Given the description of an element on the screen output the (x, y) to click on. 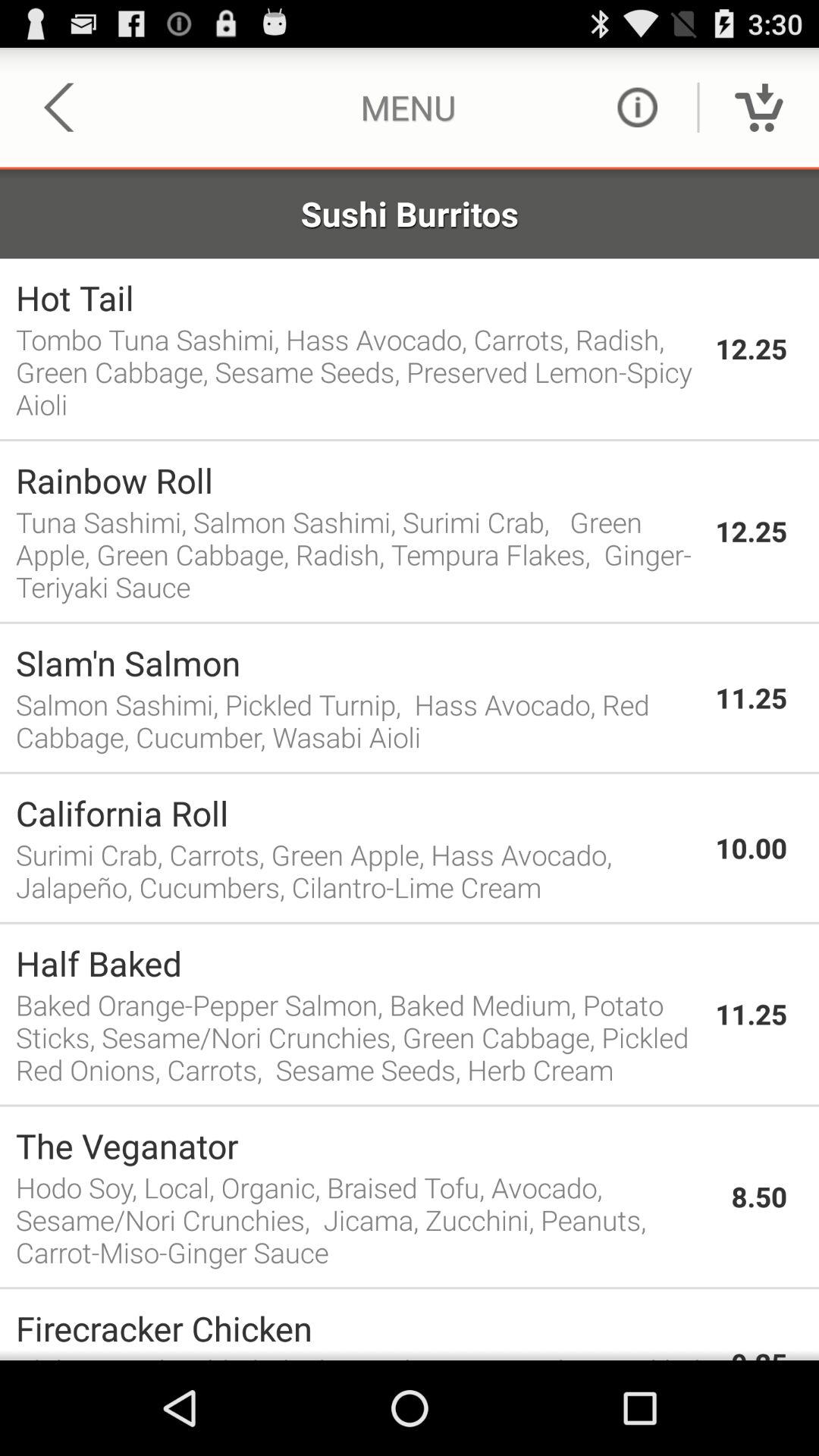
jump until the hodo soy local icon (365, 1219)
